Given the description of an element on the screen output the (x, y) to click on. 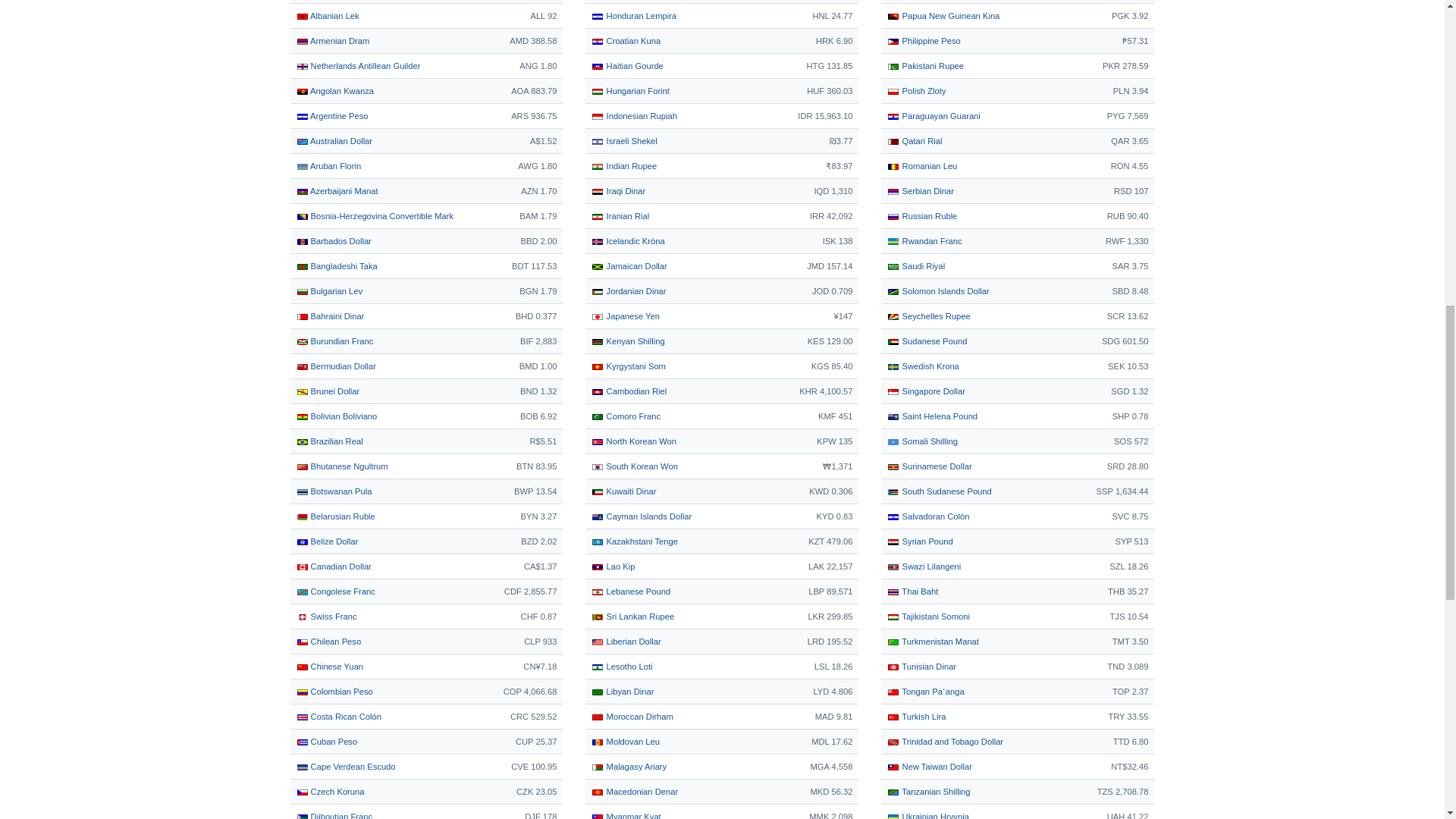
Aruban Florin (328, 165)
Bosnia-Herzegovina Convertible Mark (373, 215)
Albanian Lek (326, 15)
Bulgarian Lev (328, 290)
Bangladeshi Taka (336, 266)
Barbados Dollar (333, 240)
Argentine Peso (331, 115)
Angolan Kwanza (333, 90)
Azerbaijani Manat (336, 190)
Australian Dollar (333, 140)
